Given the description of an element on the screen output the (x, y) to click on. 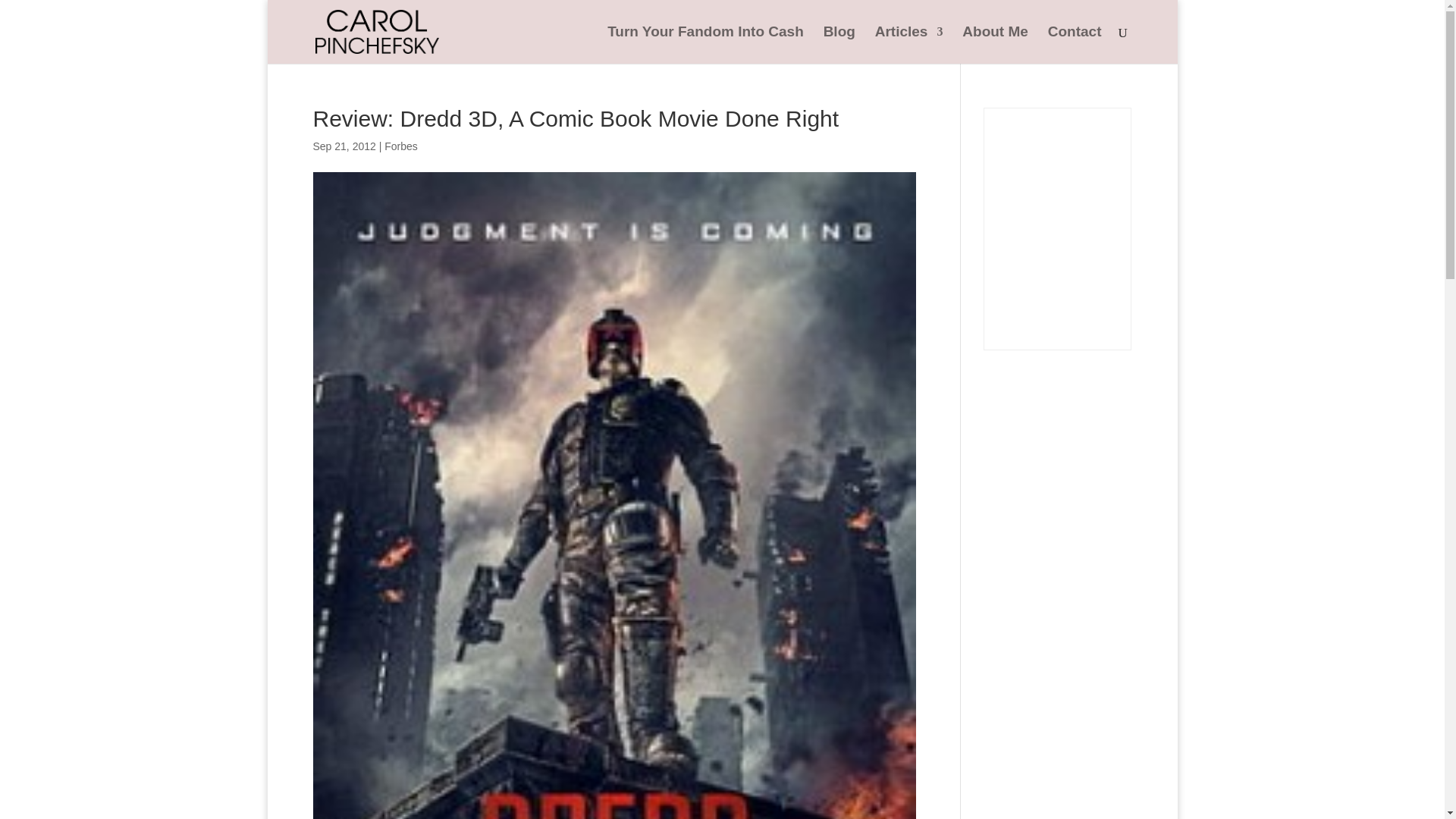
About Me (994, 44)
Blog (840, 44)
Turn Your Fandom Into Cash (705, 44)
Contact (1075, 44)
Forbes (400, 146)
Articles (909, 44)
